Given the description of an element on the screen output the (x, y) to click on. 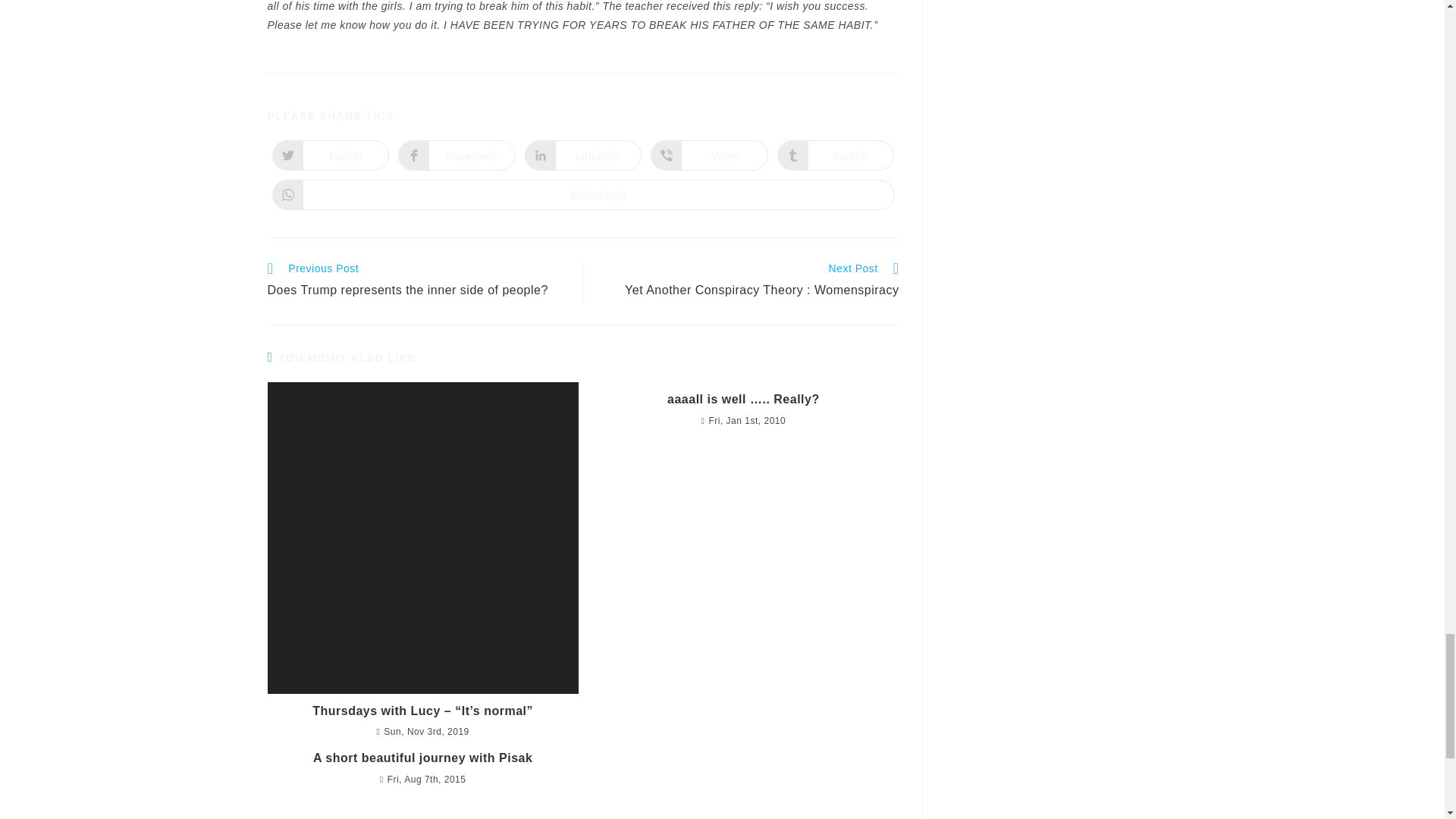
A short beautiful journey with Pisak (456, 155)
